Given the description of an element on the screen output the (x, y) to click on. 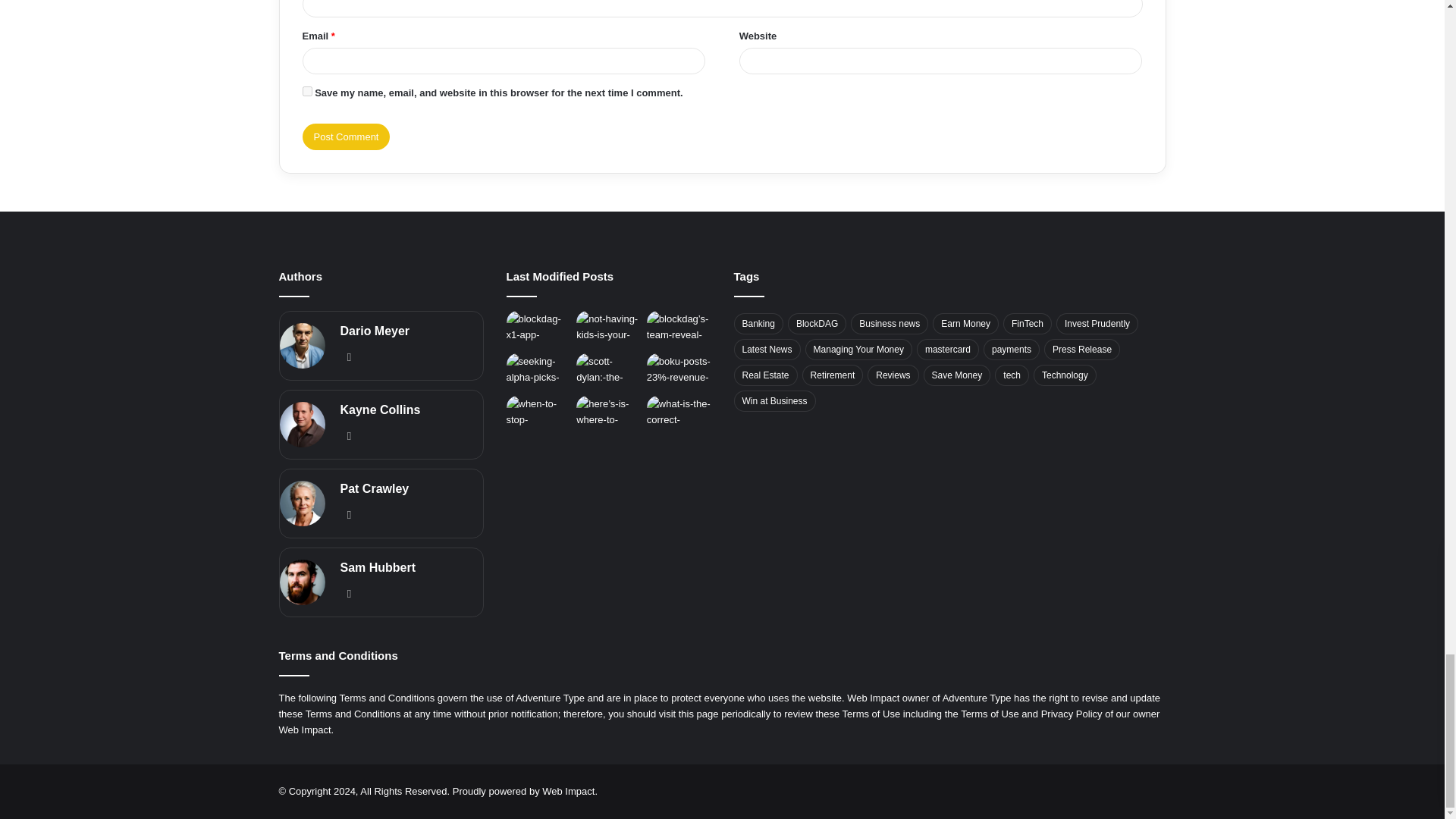
yes (306, 91)
Post Comment (345, 136)
